Given the description of an element on the screen output the (x, y) to click on. 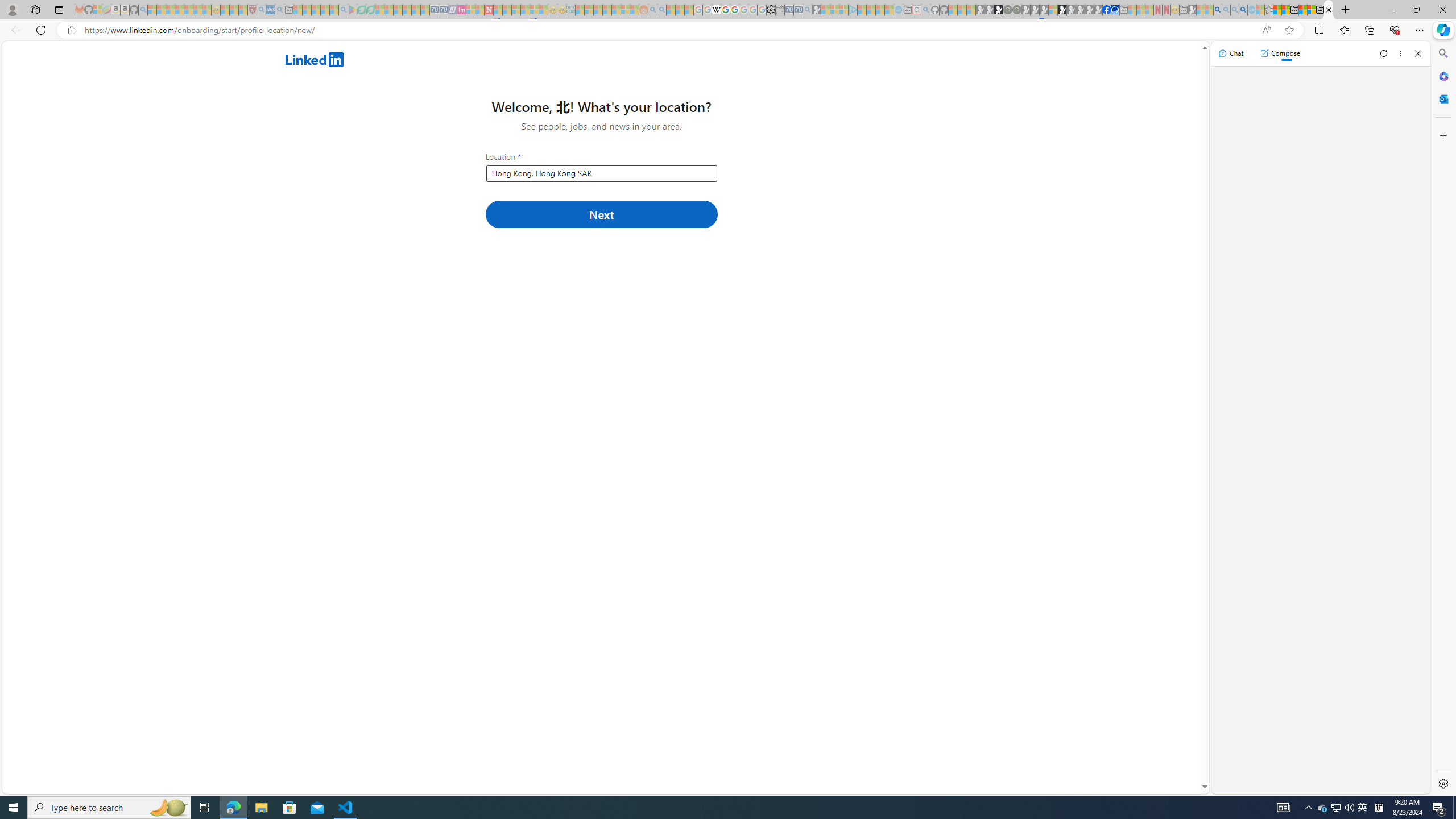
Pets - MSN - Sleeping (324, 9)
LinkedIn (1328, 9)
Close Customize pane (1442, 135)
Cheap Car Rentals - Save70.com - Sleeping (798, 9)
